Given the description of an element on the screen output the (x, y) to click on. 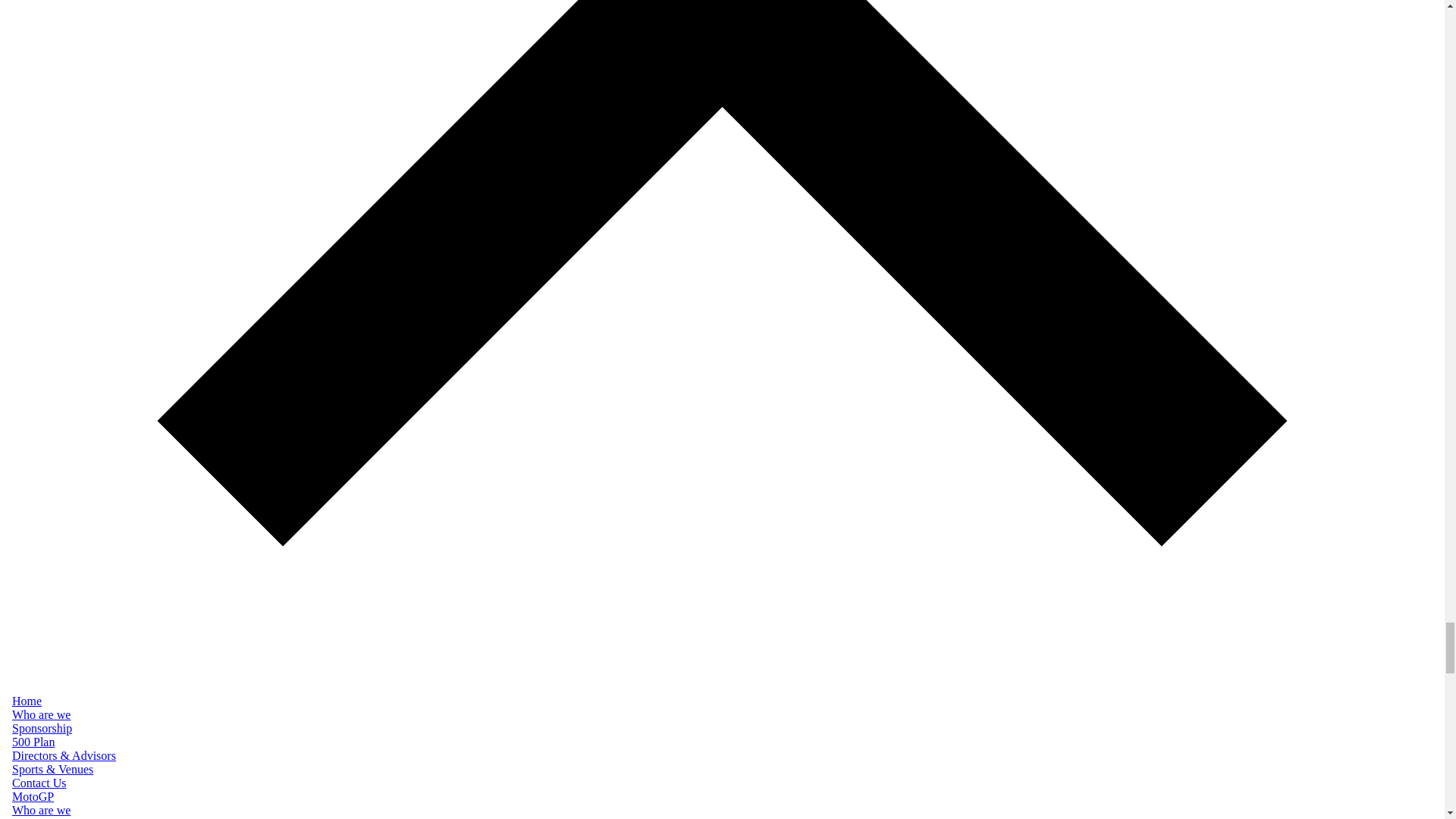
Sponsorship (41, 727)
MotoGP (32, 796)
500 Plan (33, 741)
Sponsorship (41, 818)
Contact Us (38, 782)
Home (26, 700)
Who are we (40, 809)
Who are we (40, 714)
